Given the description of an element on the screen output the (x, y) to click on. 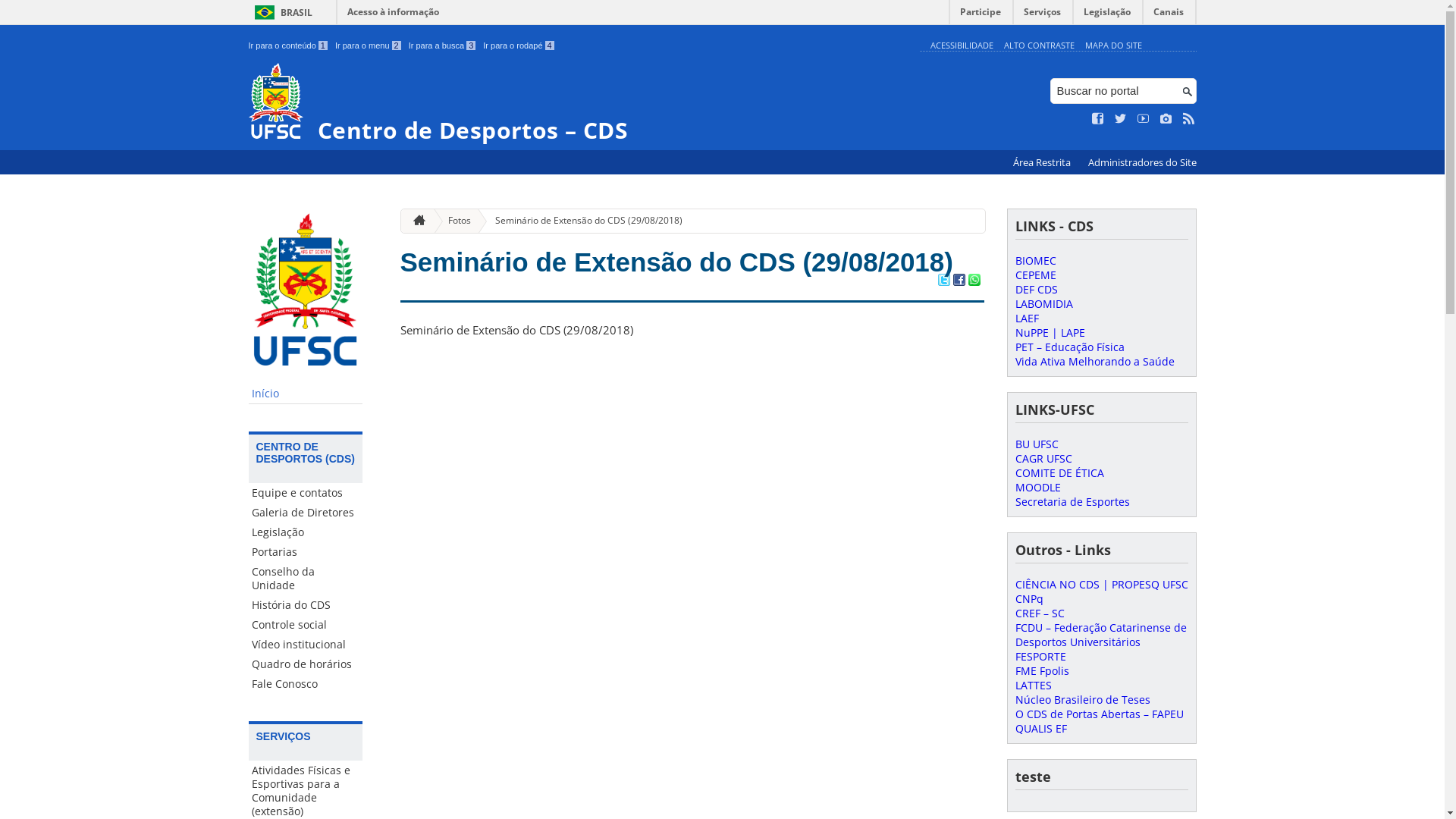
DEF CDS Element type: text (1035, 289)
Compartilhar no Facebook Element type: hover (958, 280)
Portarias Element type: text (305, 551)
FME Fpolis Element type: text (1041, 670)
QUALIS EF Element type: text (1040, 728)
Conselho da Unidade Element type: text (305, 578)
ACESSIBILIDADE Element type: text (960, 44)
BRASIL Element type: text (280, 12)
CNPq Element type: text (1028, 598)
Compartilhar no WhatsApp Element type: hover (973, 280)
FESPORTE Element type: text (1039, 656)
MOODLE Element type: text (1037, 487)
Canais Element type: text (1169, 15)
BIOMEC Element type: text (1034, 260)
MAPA DO SITE Element type: text (1112, 44)
LAEF Element type: text (1026, 317)
Curta no Facebook Element type: hover (1098, 118)
Equipe e contatos Element type: text (305, 492)
Fotos Element type: text (452, 220)
NuPPE | LAPE Element type: text (1049, 332)
Administradores do Site Element type: text (1141, 162)
Fale Conosco Element type: text (305, 683)
Secretaria de Esportes Element type: text (1071, 501)
LABOMIDIA Element type: text (1043, 303)
LATTES Element type: text (1032, 684)
Compartilhar no Twitter Element type: hover (943, 280)
BU UFSC Element type: text (1035, 443)
Ir para a busca 3 Element type: text (442, 45)
Controle social Element type: text (305, 624)
Siga no Twitter Element type: hover (1120, 118)
Galeria de Diretores Element type: text (305, 512)
Veja no Instagram Element type: hover (1166, 118)
ALTO CONTRASTE Element type: text (1039, 44)
CAGR UFSC Element type: text (1042, 458)
CEPEME Element type: text (1034, 274)
Participe Element type: text (980, 15)
Ir para o menu 2 Element type: text (368, 45)
